Given the description of an element on the screen output the (x, y) to click on. 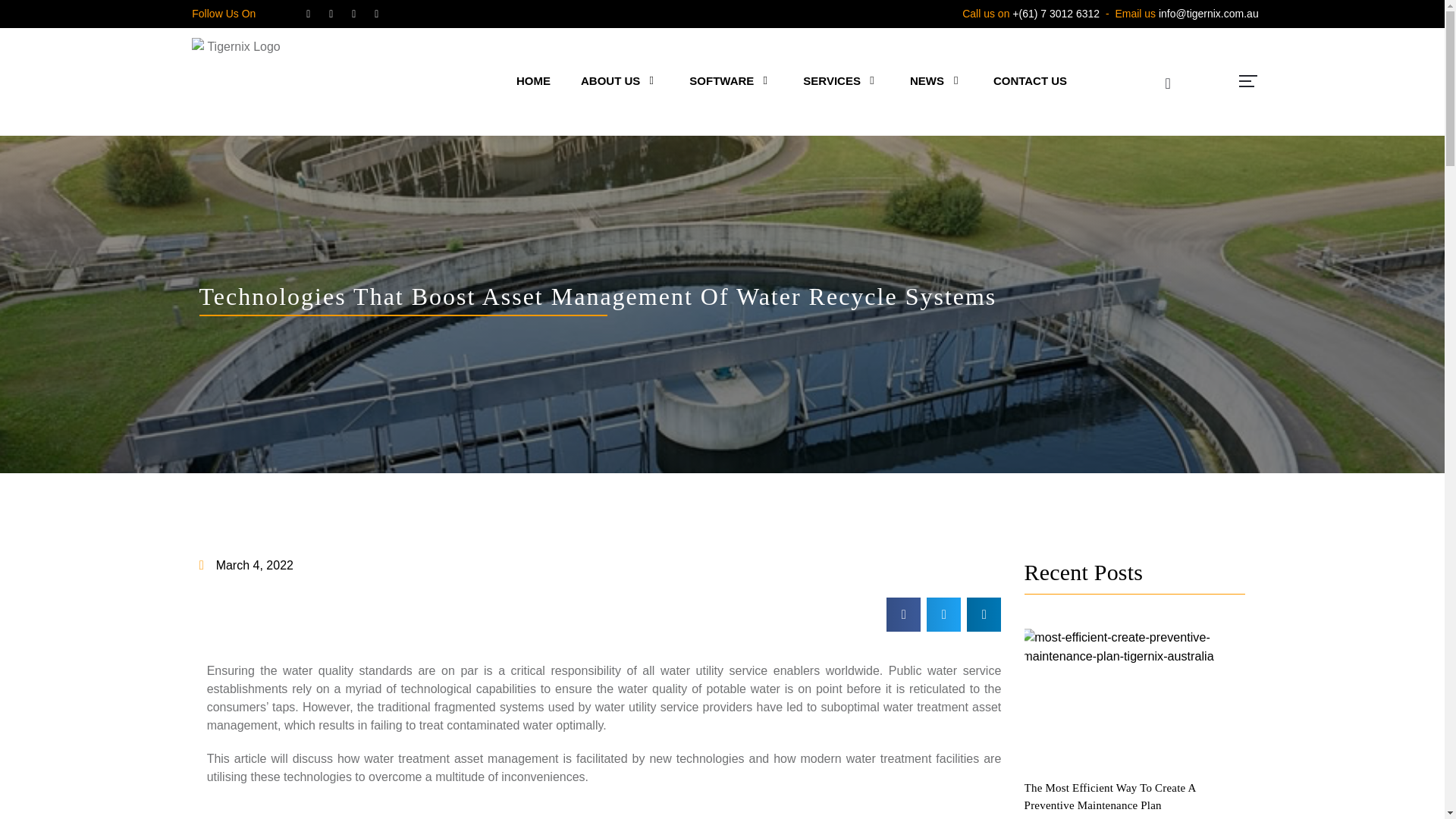
ABOUT US (611, 81)
HOME (533, 81)
SOFTWARE (722, 81)
